Given the description of an element on the screen output the (x, y) to click on. 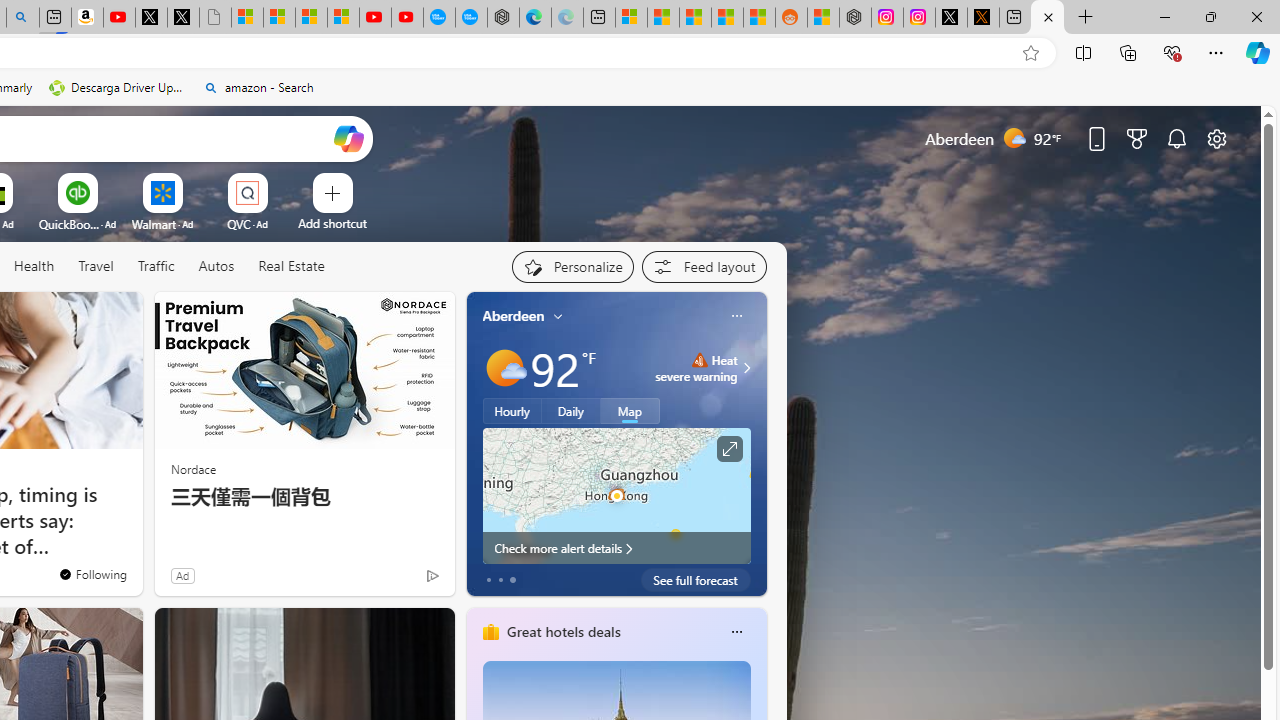
Real Estate (290, 267)
New split screen (54, 17)
Day 1: Arriving in Yemen (surreal to be here) - YouTube (118, 17)
Heat - Severe (699, 359)
The most popular Google 'how to' searches (471, 17)
Shanghai, China weather forecast | Microsoft Weather (663, 17)
Ad (182, 575)
More options (736, 631)
Hourly (511, 411)
